Given the description of an element on the screen output the (x, y) to click on. 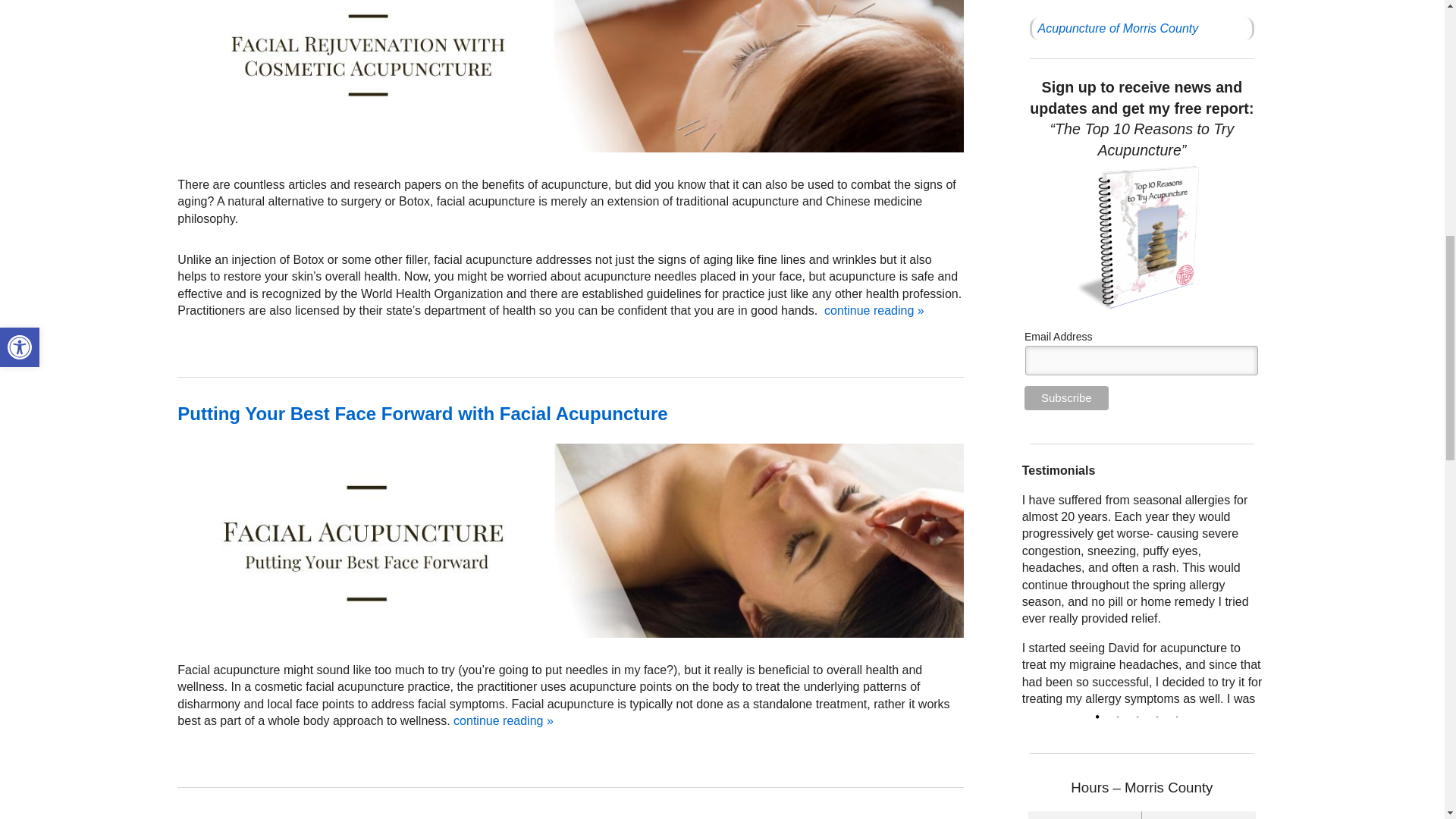
Read (421, 413)
Subscribe (1066, 397)
Putting Your Best Face Forward with Facial Acupuncture (421, 413)
